Given the description of an element on the screen output the (x, y) to click on. 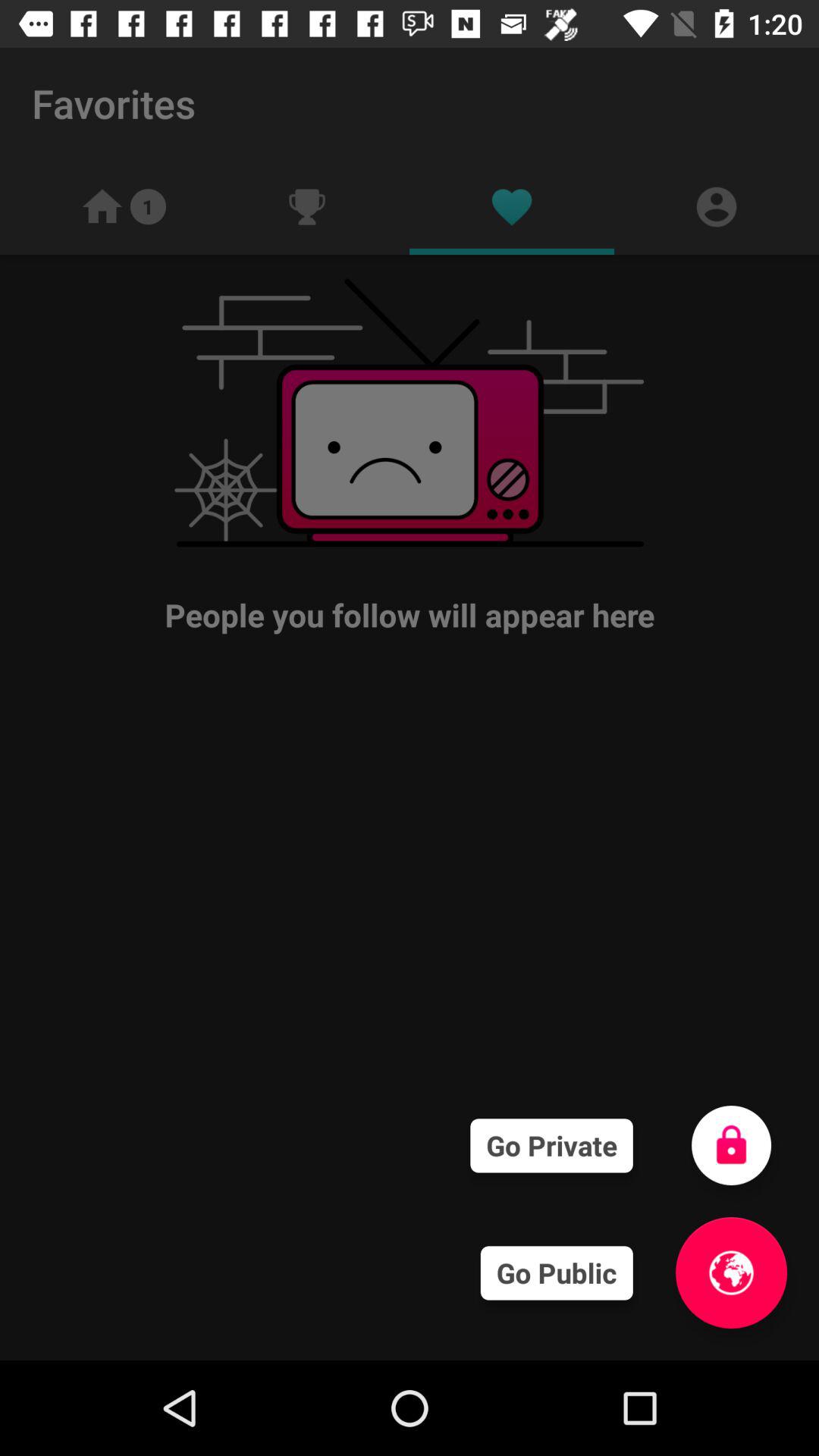
world button switches your profile to public (731, 1272)
